Given the description of an element on the screen output the (x, y) to click on. 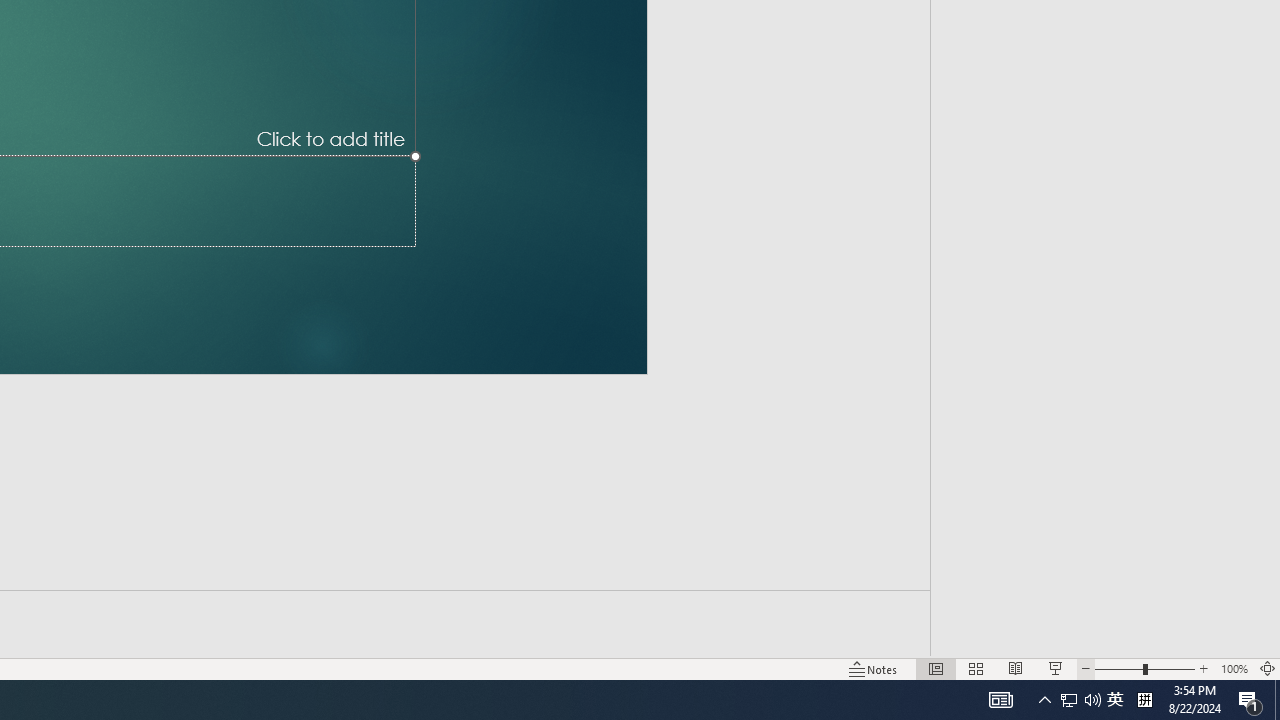
Slide Sorter (975, 668)
Reading View (1015, 668)
Notes  (874, 668)
Zoom (1144, 668)
Zoom In (1204, 668)
Zoom Out (1118, 668)
Zoom 100% (1234, 668)
Normal (936, 668)
Zoom to Fit  (1267, 668)
